Given the description of an element on the screen output the (x, y) to click on. 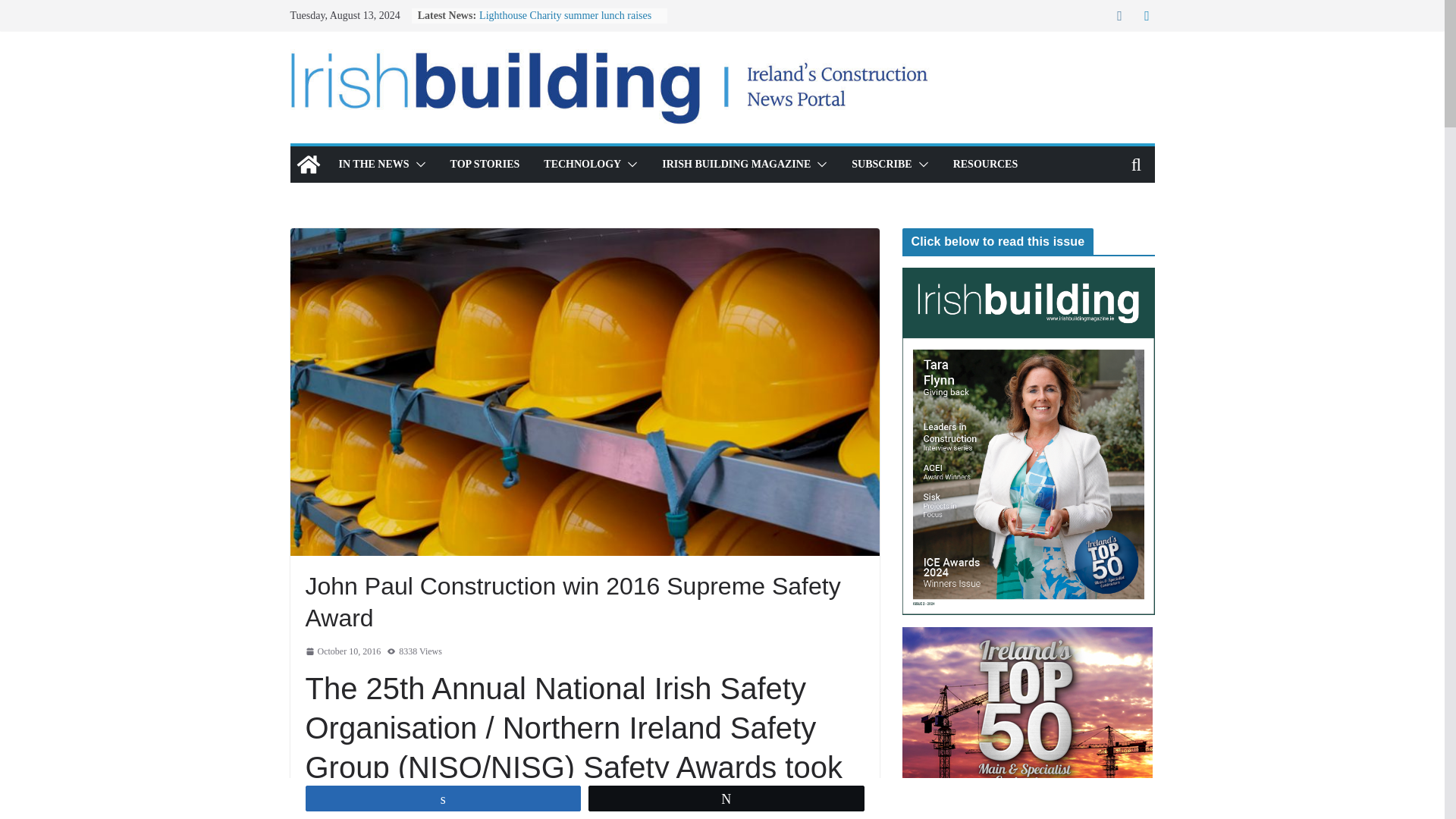
TECHNOLOGY (582, 164)
Irish building magazine (307, 164)
TOP STORIES (484, 164)
IRISH BUILDING MAGAZINE (736, 164)
SUBSCRIBE (881, 164)
RESOURCES (985, 164)
October 10, 2016 (342, 651)
6:45 am (342, 651)
IN THE NEWS (373, 164)
